Given the description of an element on the screen output the (x, y) to click on. 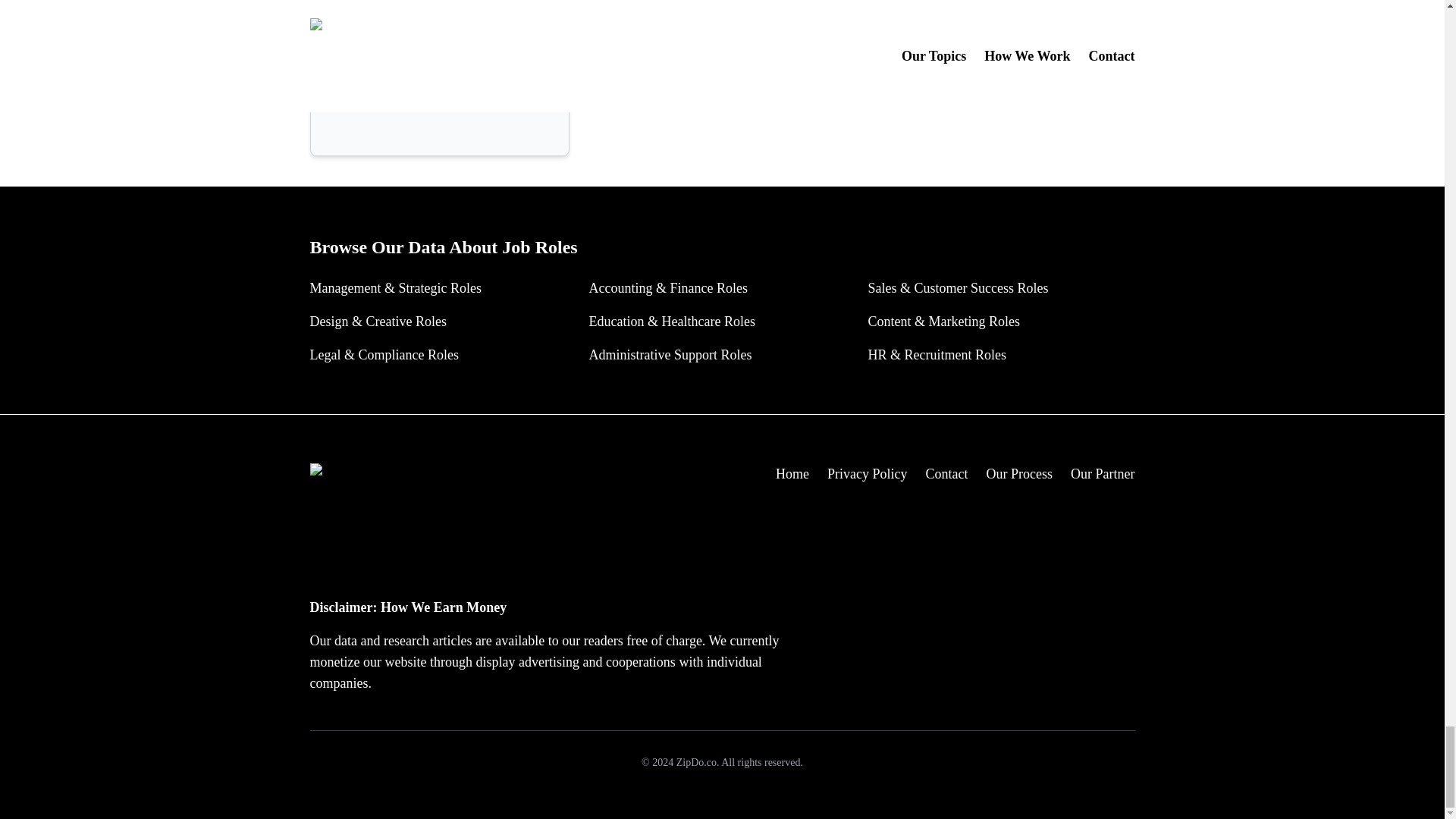
idownloadblog.com (439, 102)
macworld.com (439, 8)
Logo of lifewire.com (638, 8)
Logo of macworld.com (363, 8)
Logo of idownloadblog.com (363, 102)
lifewire.com (713, 8)
